Given the description of an element on the screen output the (x, y) to click on. 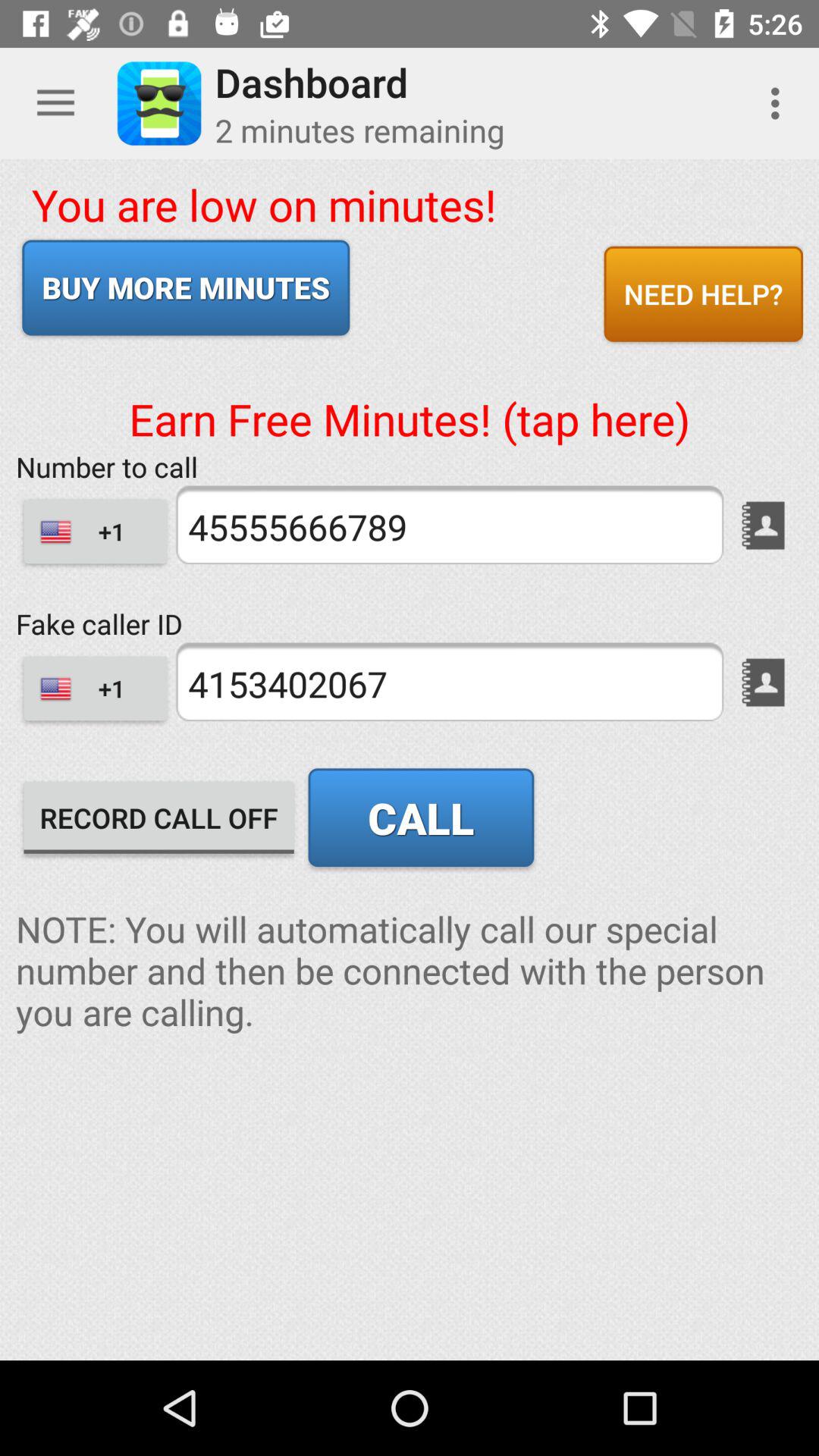
select the icon to the right of the +1 (449, 681)
